Given the description of an element on the screen output the (x, y) to click on. 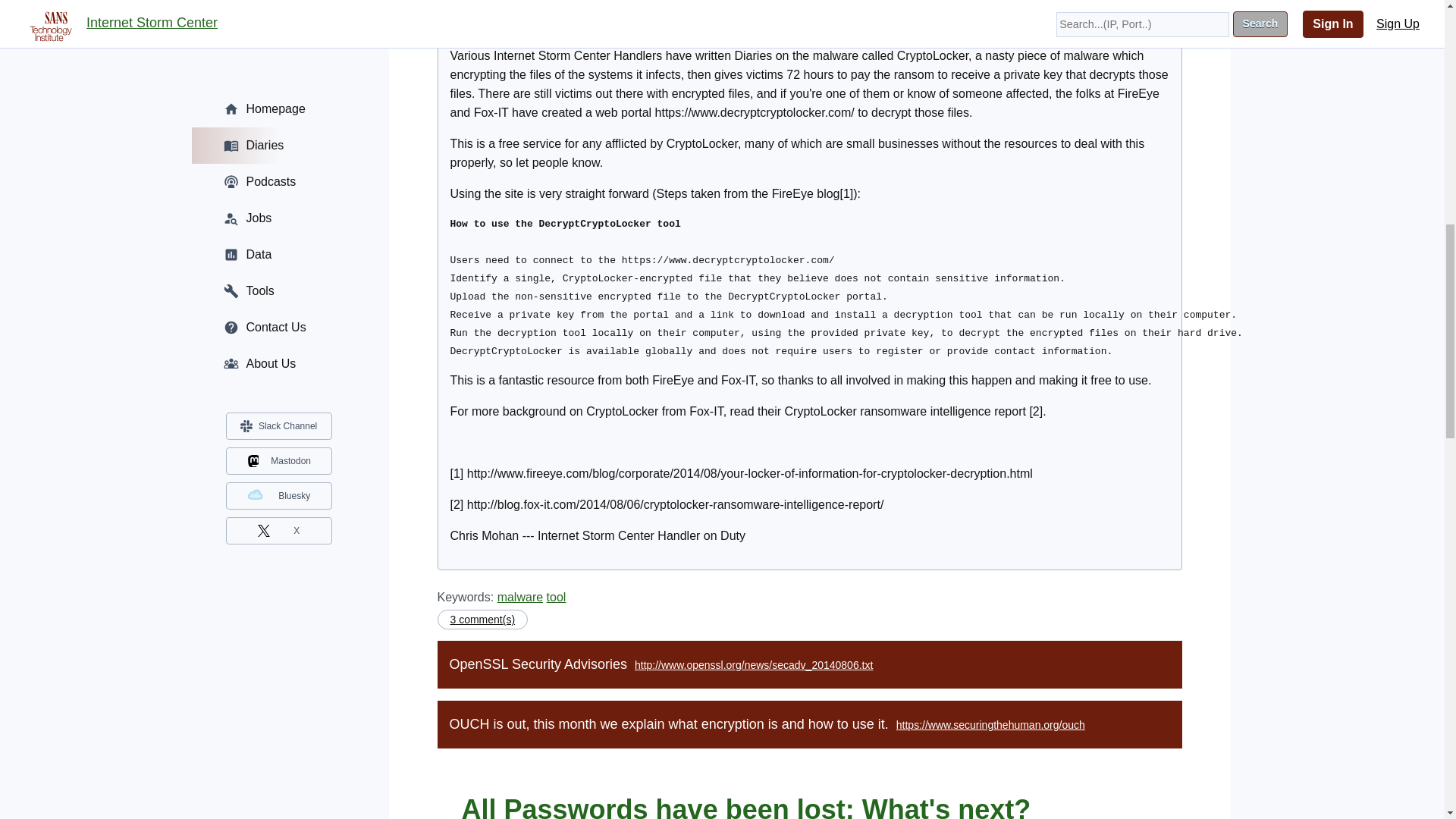
All Passwords have been lost: What's next? (745, 806)
malware (520, 596)
tool (556, 596)
